Given the description of an element on the screen output the (x, y) to click on. 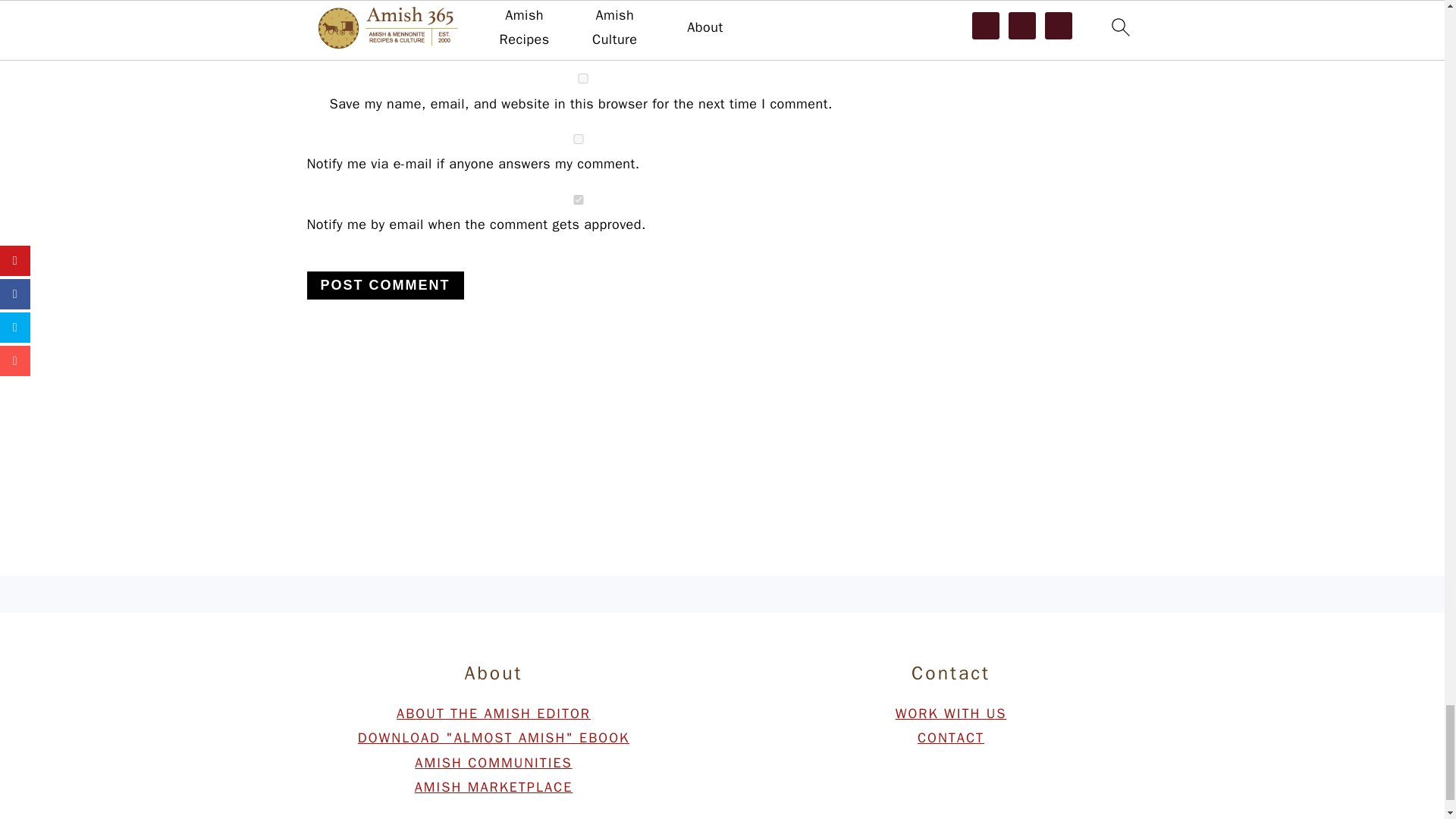
Post Comment (384, 285)
yes (582, 78)
on (576, 139)
1 (576, 199)
